Given the description of an element on the screen output the (x, y) to click on. 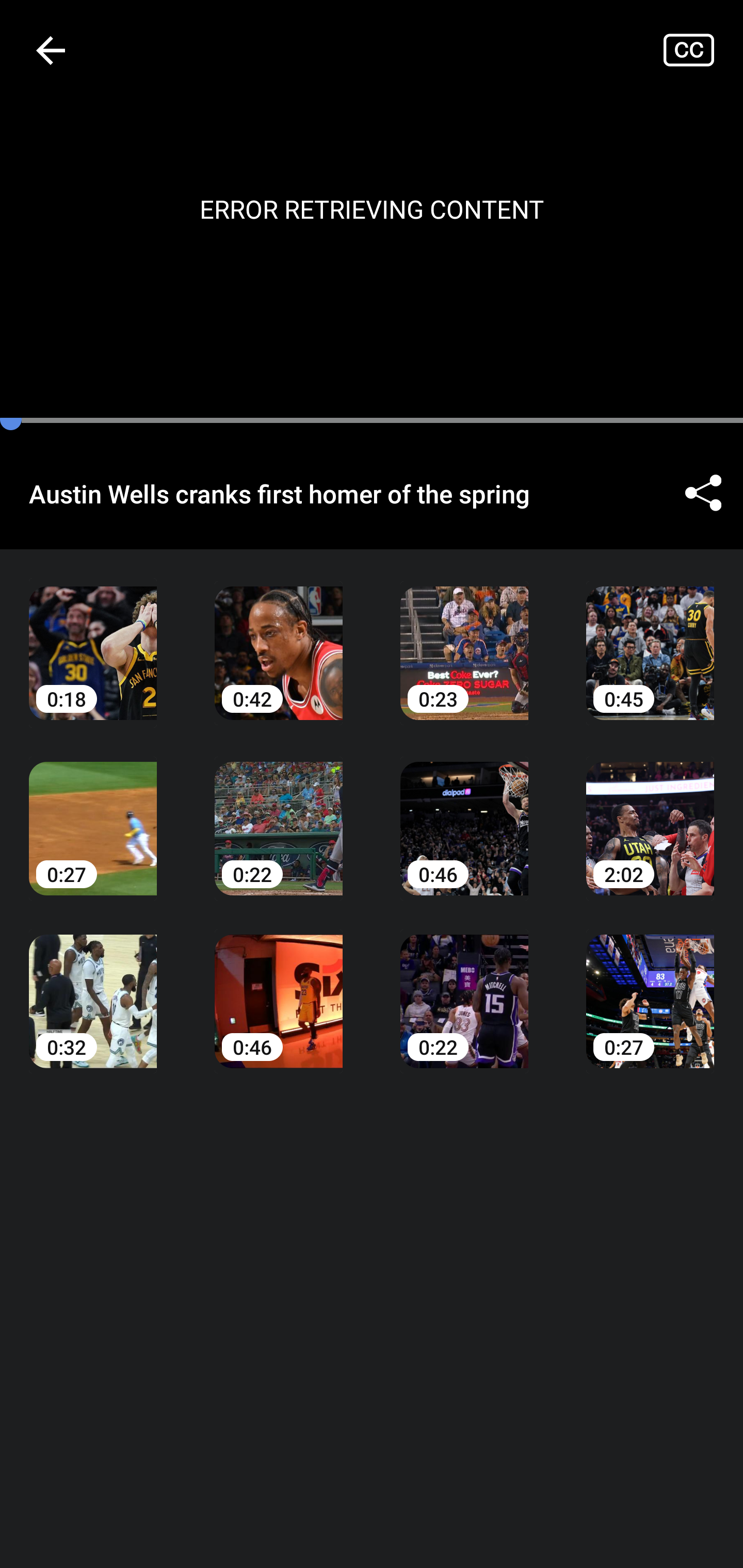
Navigate up (50, 50)
Closed captions  (703, 49)
Share © (703, 493)
0:18 (92, 637)
0:42 (278, 637)
0:23 (464, 637)
0:45 (650, 637)
0:27 (92, 813)
0:22 (278, 813)
0:46 (464, 813)
2:02 (650, 813)
0:32 (92, 987)
0:46 (278, 987)
0:22 (464, 987)
0:27 (650, 987)
